Given the description of an element on the screen output the (x, y) to click on. 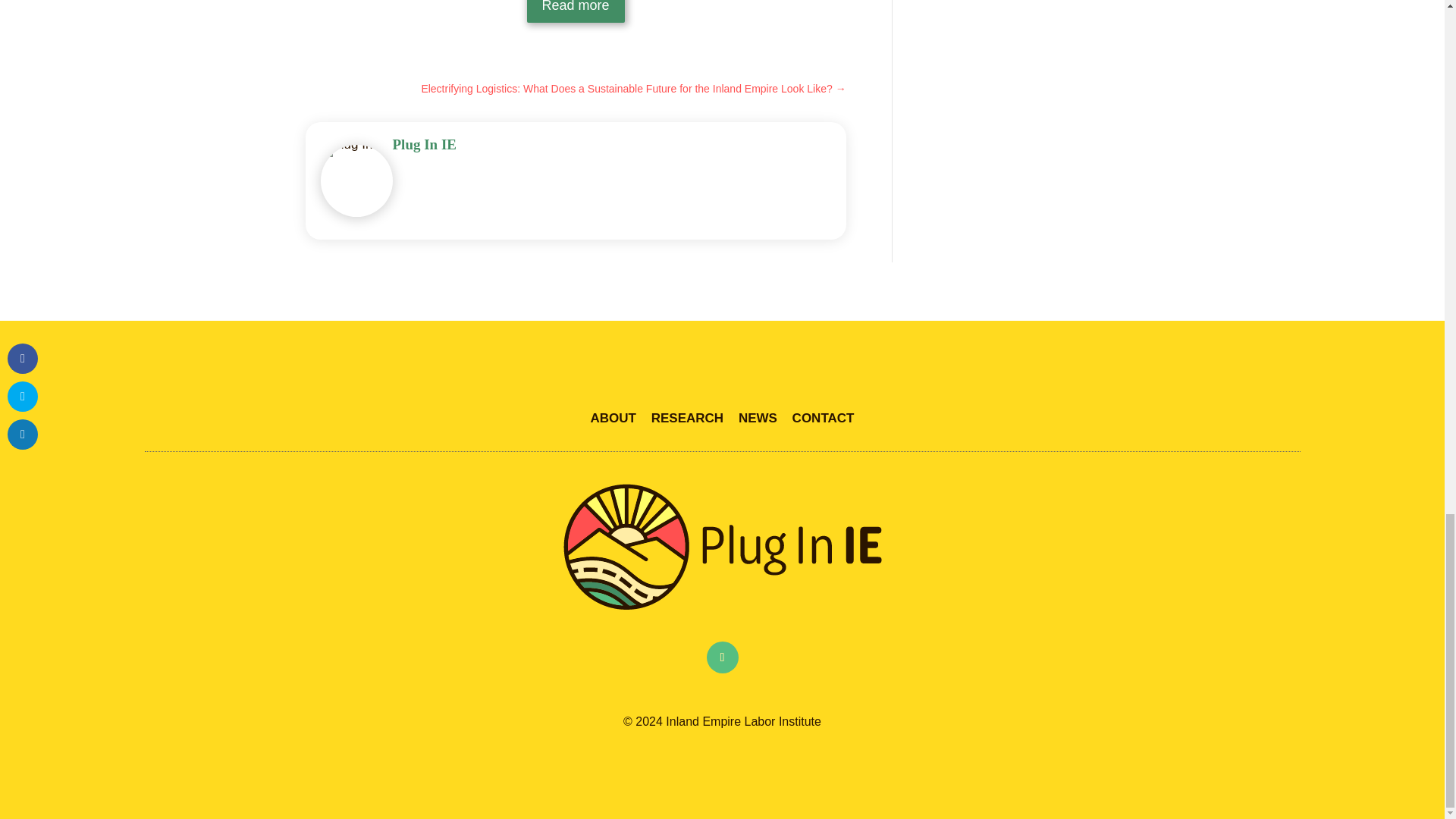
Read more (575, 11)
CONTACT (823, 418)
NEWS (757, 418)
Follow on Instagram (722, 657)
ABOUT (613, 418)
RESEARCH (686, 418)
